Given the description of an element on the screen output the (x, y) to click on. 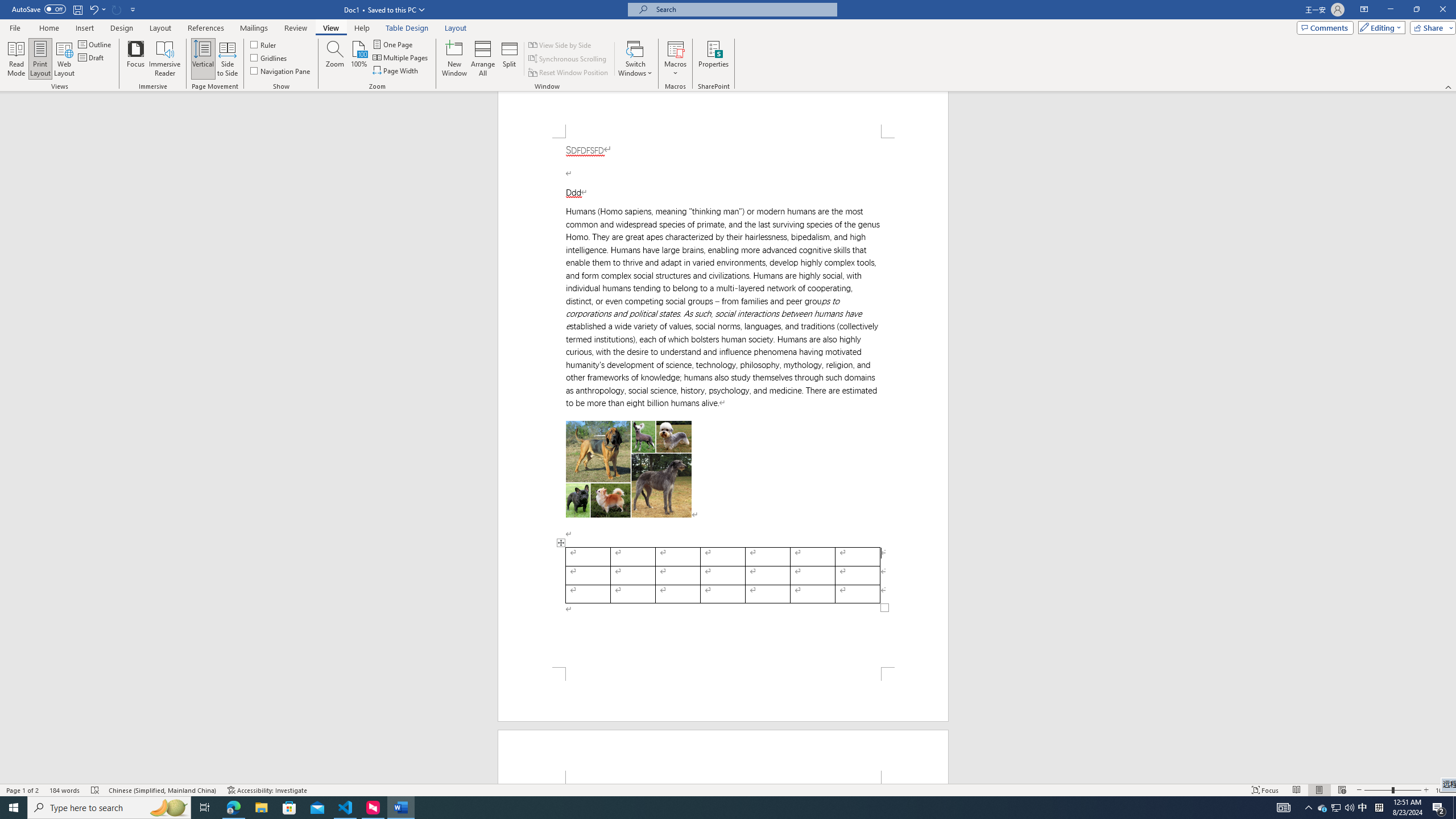
Vertical (202, 58)
Side to Side (226, 58)
Ruler (263, 44)
100% (358, 58)
